Given the description of an element on the screen output the (x, y) to click on. 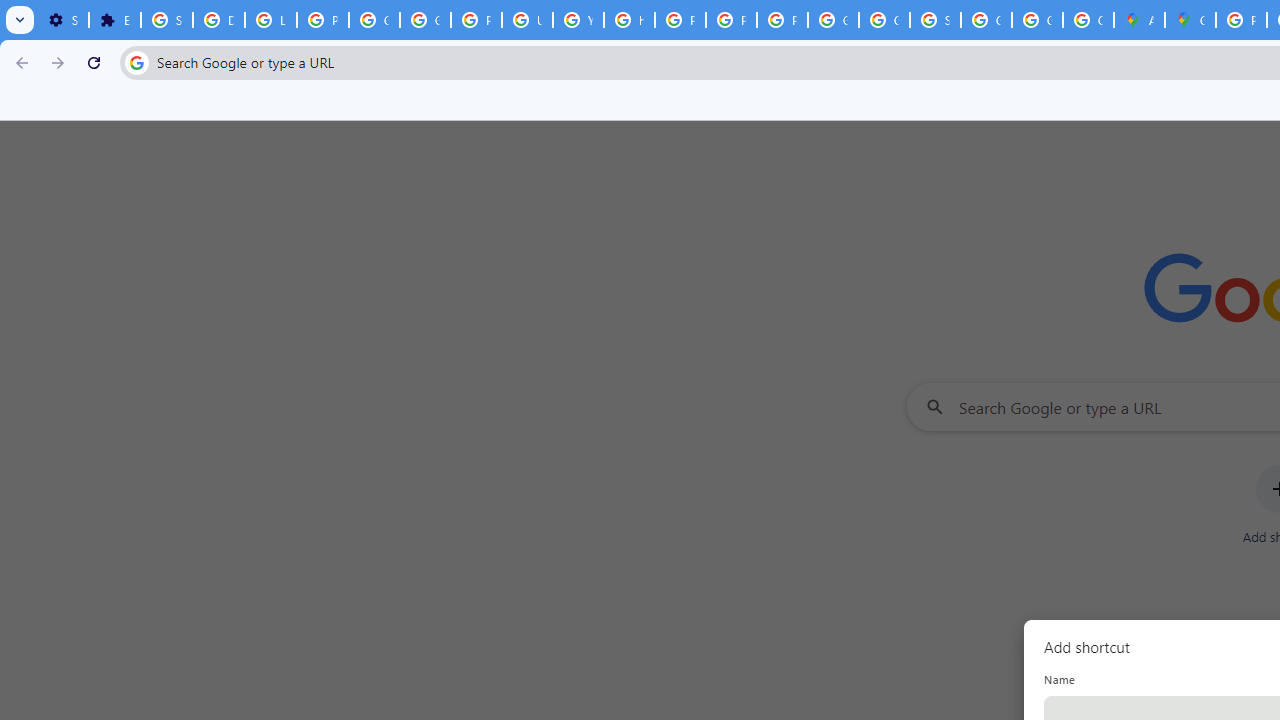
Google Maps (1189, 20)
Google Account Help (374, 20)
YouTube (578, 20)
https://scholar.google.com/ (629, 20)
